Given the description of an element on the screen output the (x, y) to click on. 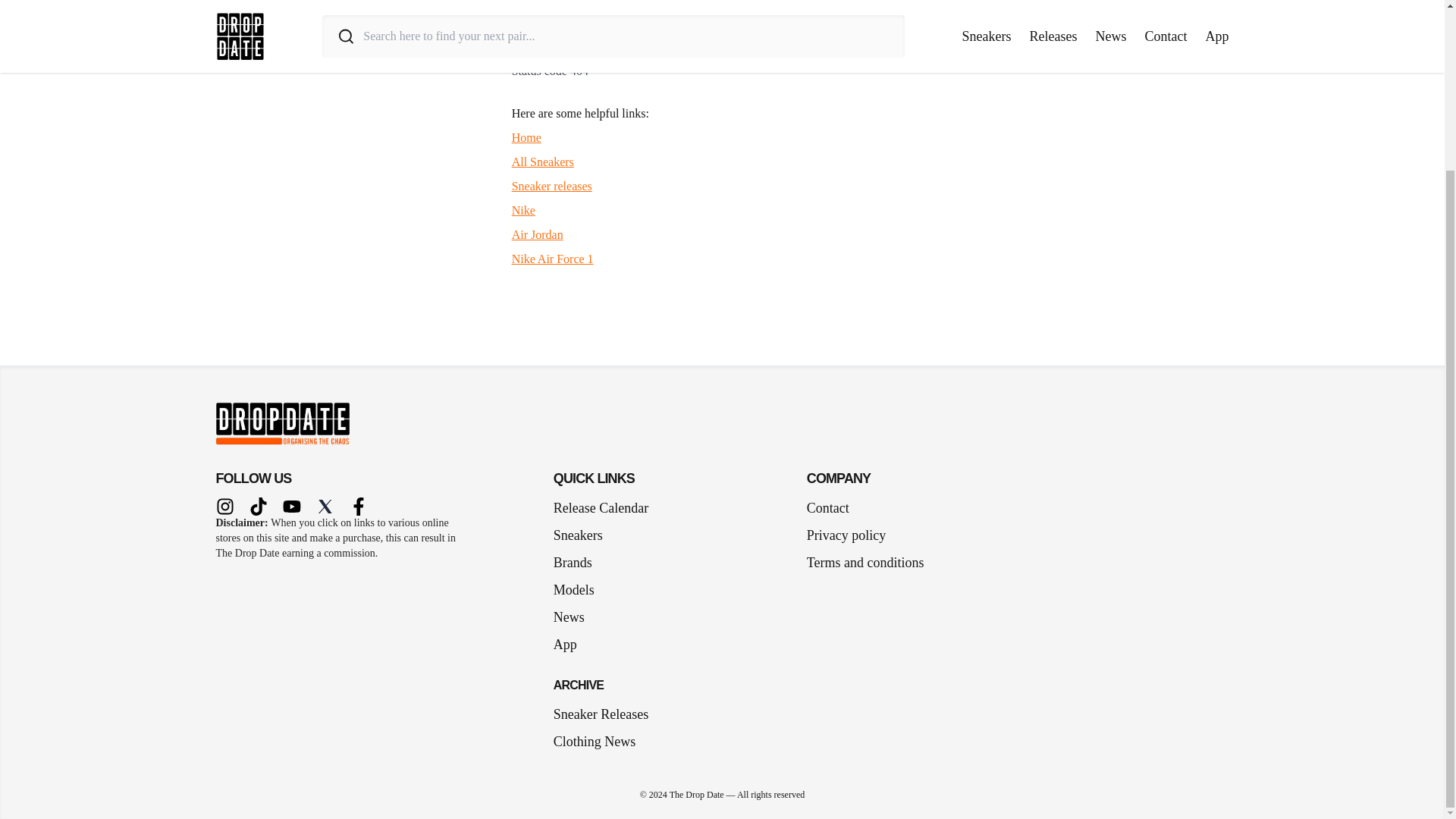
Contact (827, 507)
Terms and conditions (865, 562)
App (571, 644)
Sneakers (583, 535)
Sneaker Releases (600, 713)
Air Jordan (537, 234)
Privacy policy (845, 535)
News (574, 617)
Release Calendar (600, 507)
Nike (523, 210)
